Given the description of an element on the screen output the (x, y) to click on. 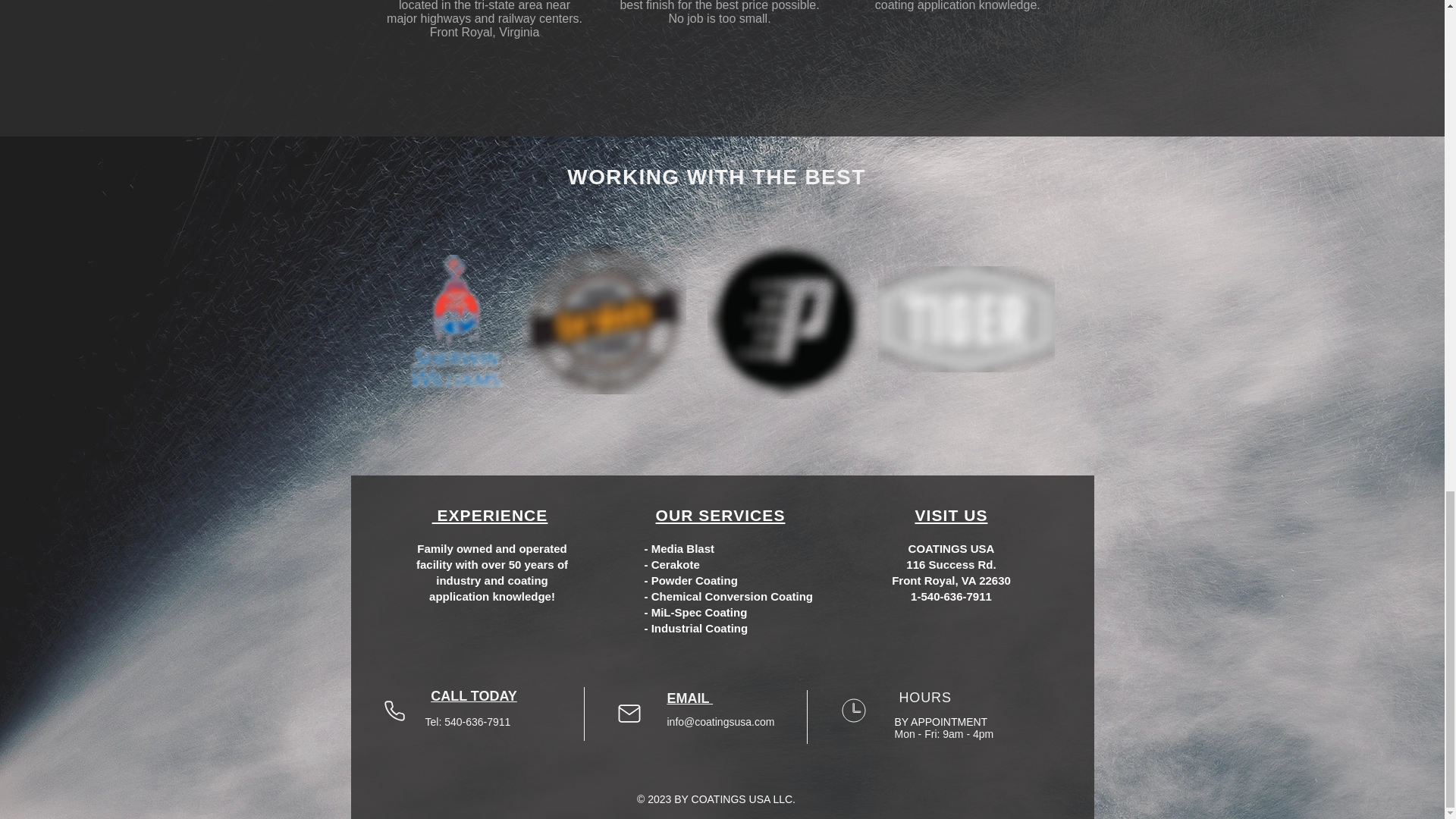
CALL TODAY (473, 695)
EMAIL  (689, 698)
